Given the description of an element on the screen output the (x, y) to click on. 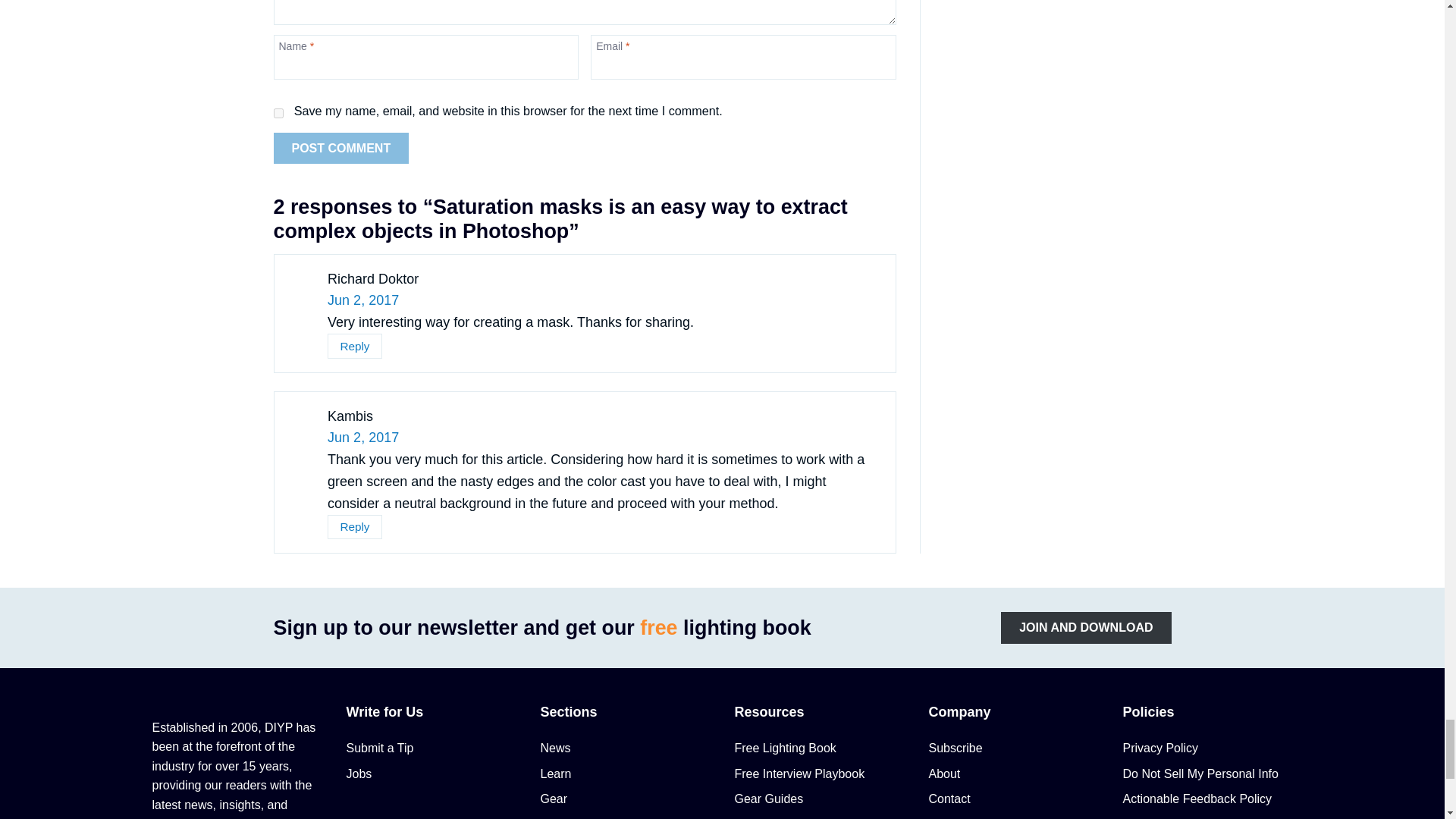
yes (277, 112)
Post Comment (341, 148)
